Given the description of an element on the screen output the (x, y) to click on. 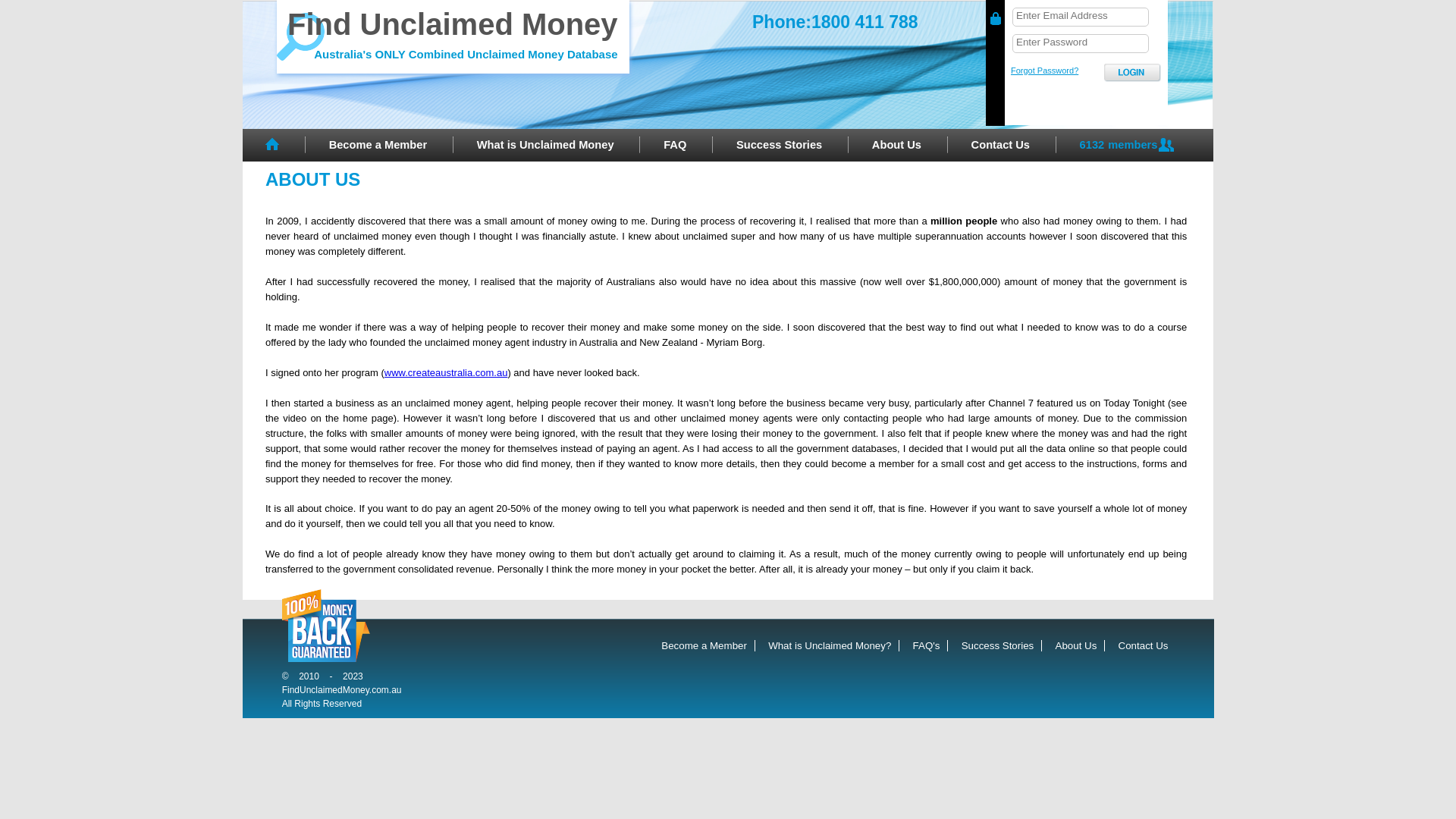
About Us Element type: text (1080, 645)
Become a Member Element type: text (708, 645)
Contact Us Element type: text (1147, 645)
FAQ Element type: text (674, 145)
6132
members Element type: text (1126, 145)
Success Stories Element type: text (1001, 645)
www.createaustralia.com.au Element type: text (446, 372)
Contact Us Element type: text (1000, 145)
What is Unclaimed Money Element type: text (545, 145)
FAQ's Element type: text (930, 645)
Become a Member Element type: text (378, 145)
Success Stories Element type: text (779, 145)
About Us Element type: text (896, 145)
Forgot Password? Element type: text (1044, 70)
What is Unclaimed Money? Element type: text (833, 645)
